Given the description of an element on the screen output the (x, y) to click on. 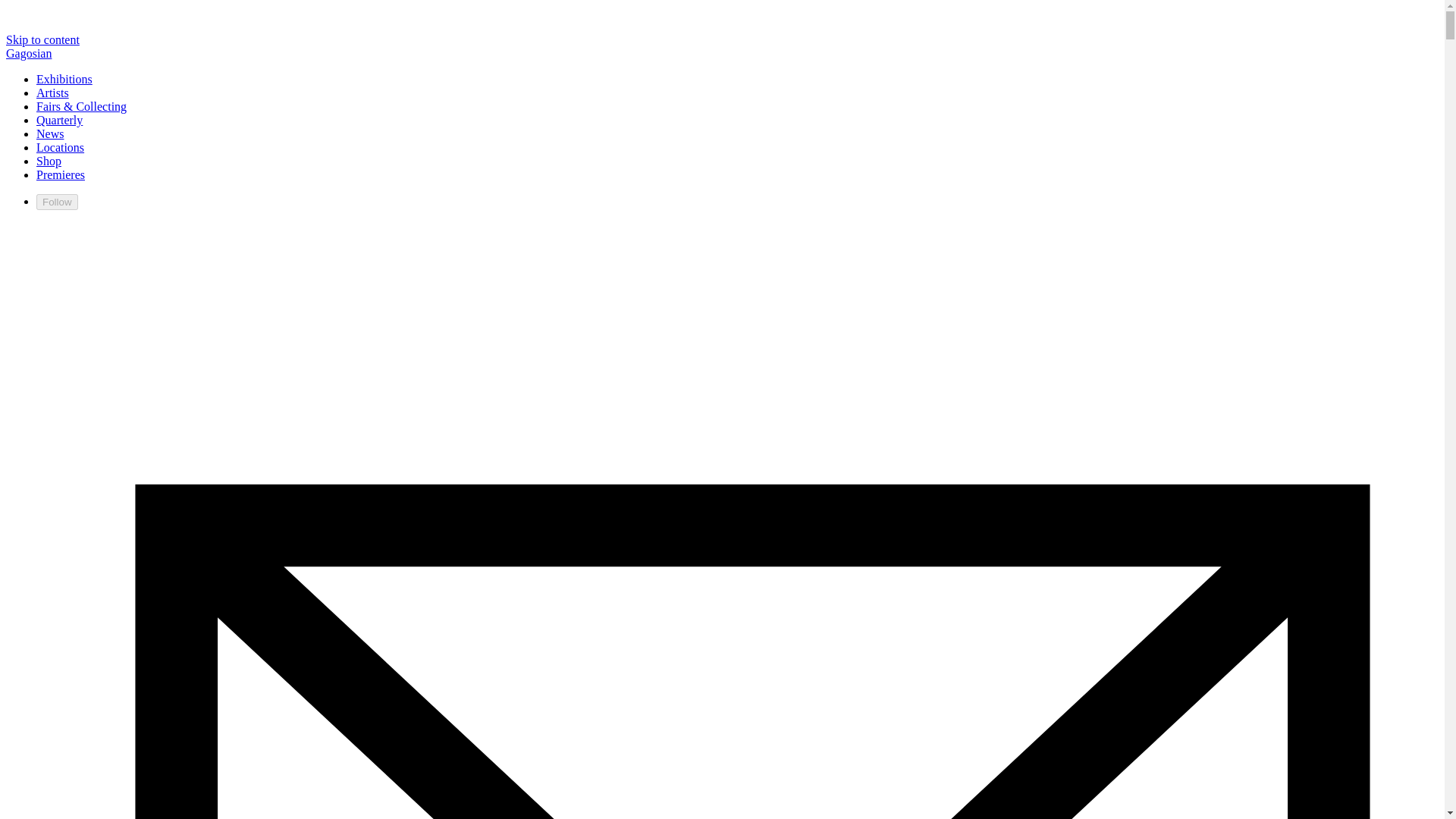
Lifestyle (657, 121)
Books (592, 121)
Search (1153, 13)
Videos (433, 121)
Locations (791, 13)
Interviews (362, 121)
Learn more about Kon Trubkovich (1066, 148)
Quarterly (659, 13)
Gagosian (298, 12)
GAGOSIAN QUARTERLY (414, 68)
